Given the description of an element on the screen output the (x, y) to click on. 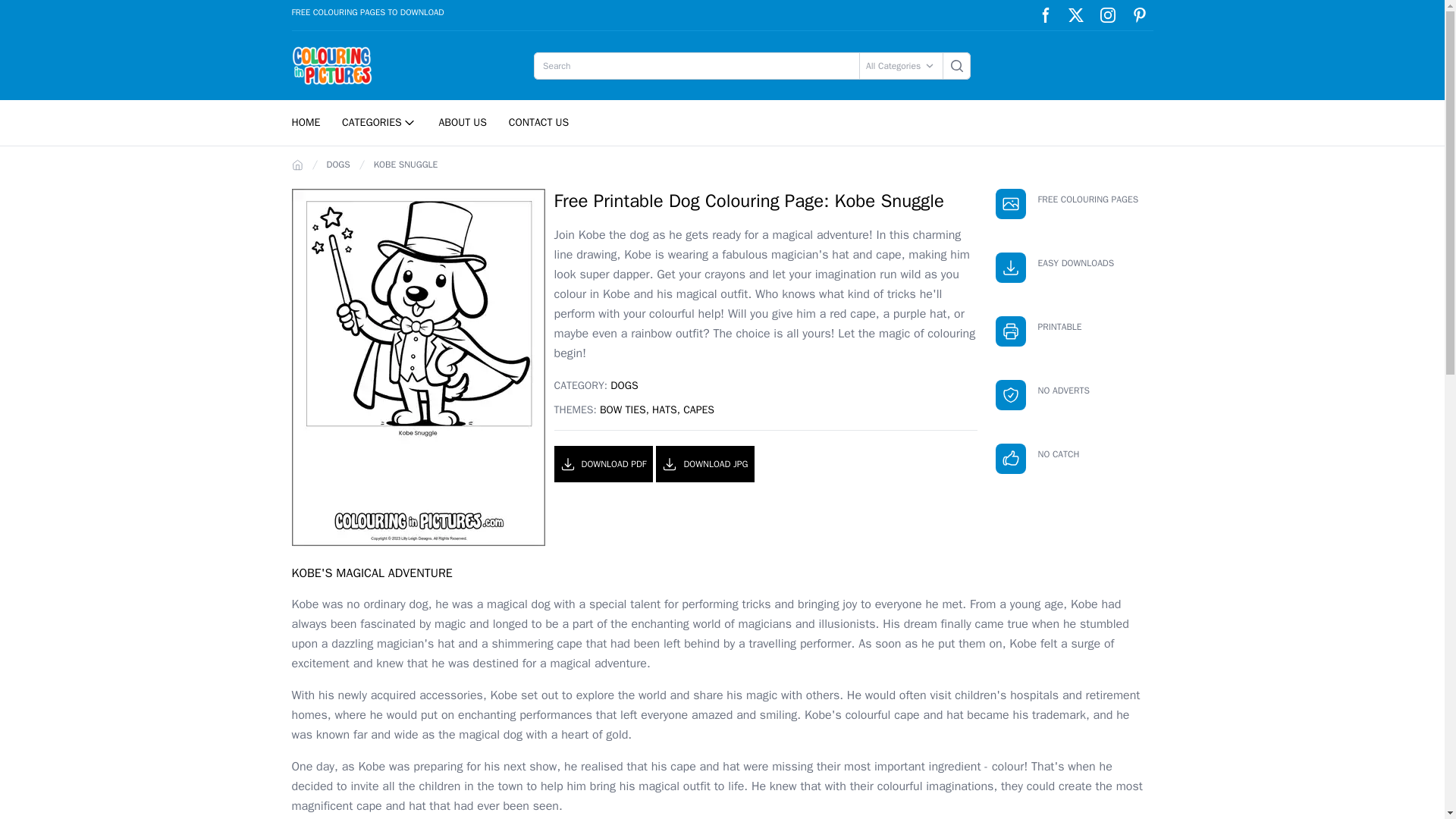
CONTACT US (538, 122)
Hat themed colouring in pages (664, 409)
Bow Tie themed colouring in pages (622, 409)
ABOUT US (462, 122)
Cape themed colouring in pages (698, 409)
Coloring In Pictures (333, 65)
Search (956, 64)
Dog colouring pages (623, 385)
HOME (305, 122)
Instagram (1106, 14)
CATEGORIES (379, 122)
